Given the description of an element on the screen output the (x, y) to click on. 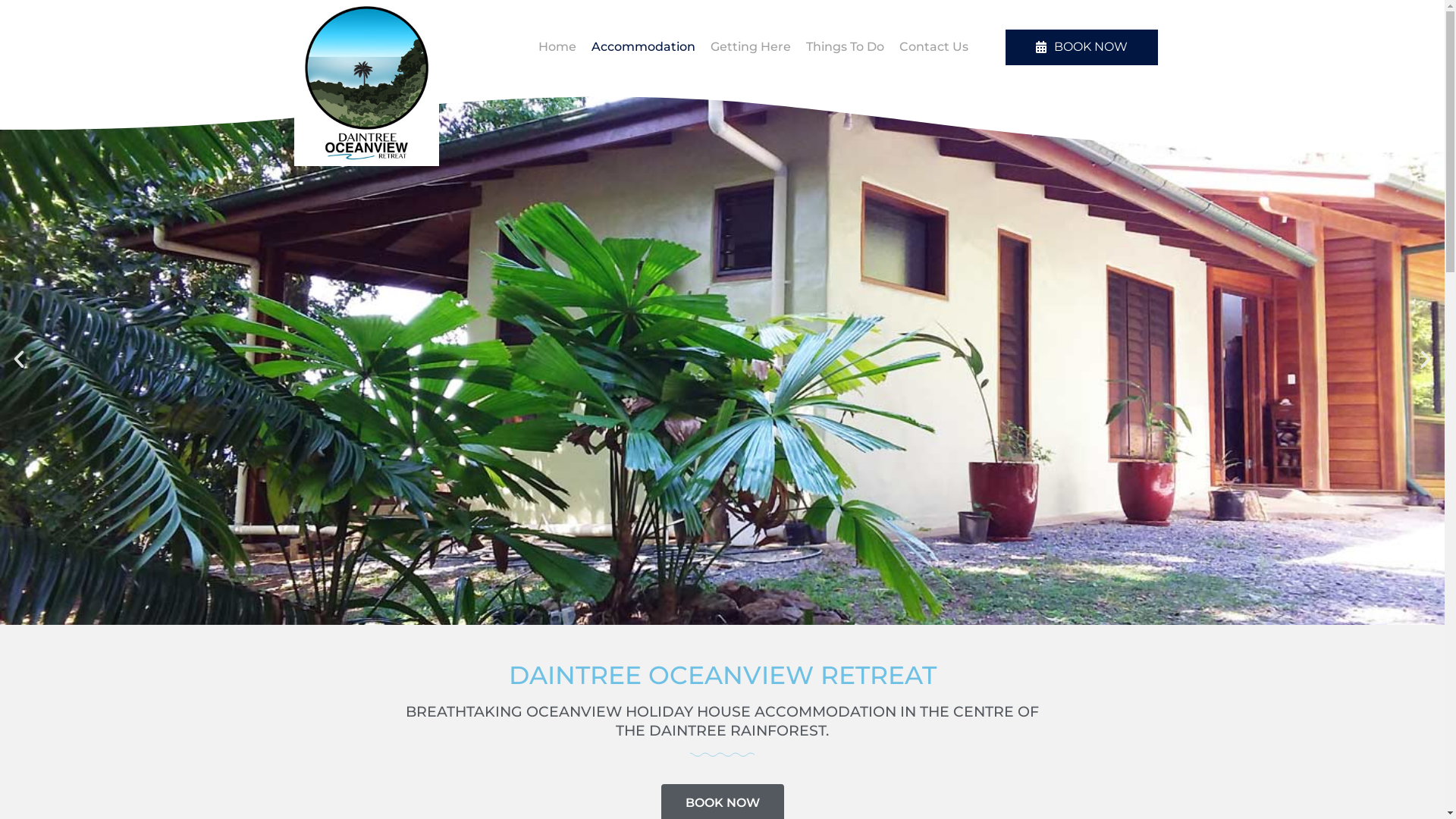
Accommodation Element type: text (642, 46)
Getting Here Element type: text (750, 46)
BOOK NOW Element type: text (1081, 47)
Home Element type: text (556, 46)
Things To Do Element type: text (844, 46)
Contact Us Element type: text (933, 46)
